Given the description of an element on the screen output the (x, y) to click on. 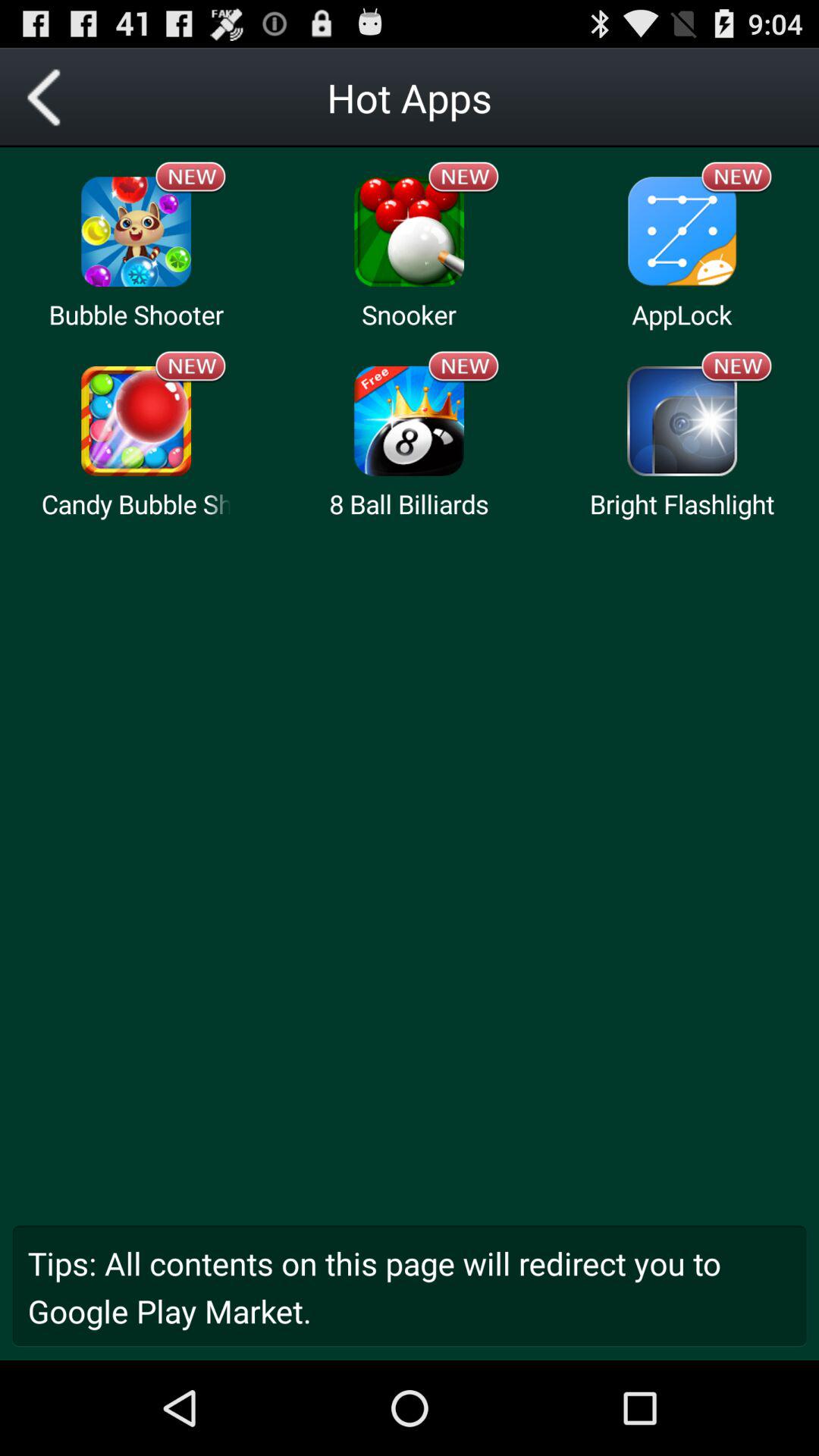
go back (49, 97)
